Given the description of an element on the screen output the (x, y) to click on. 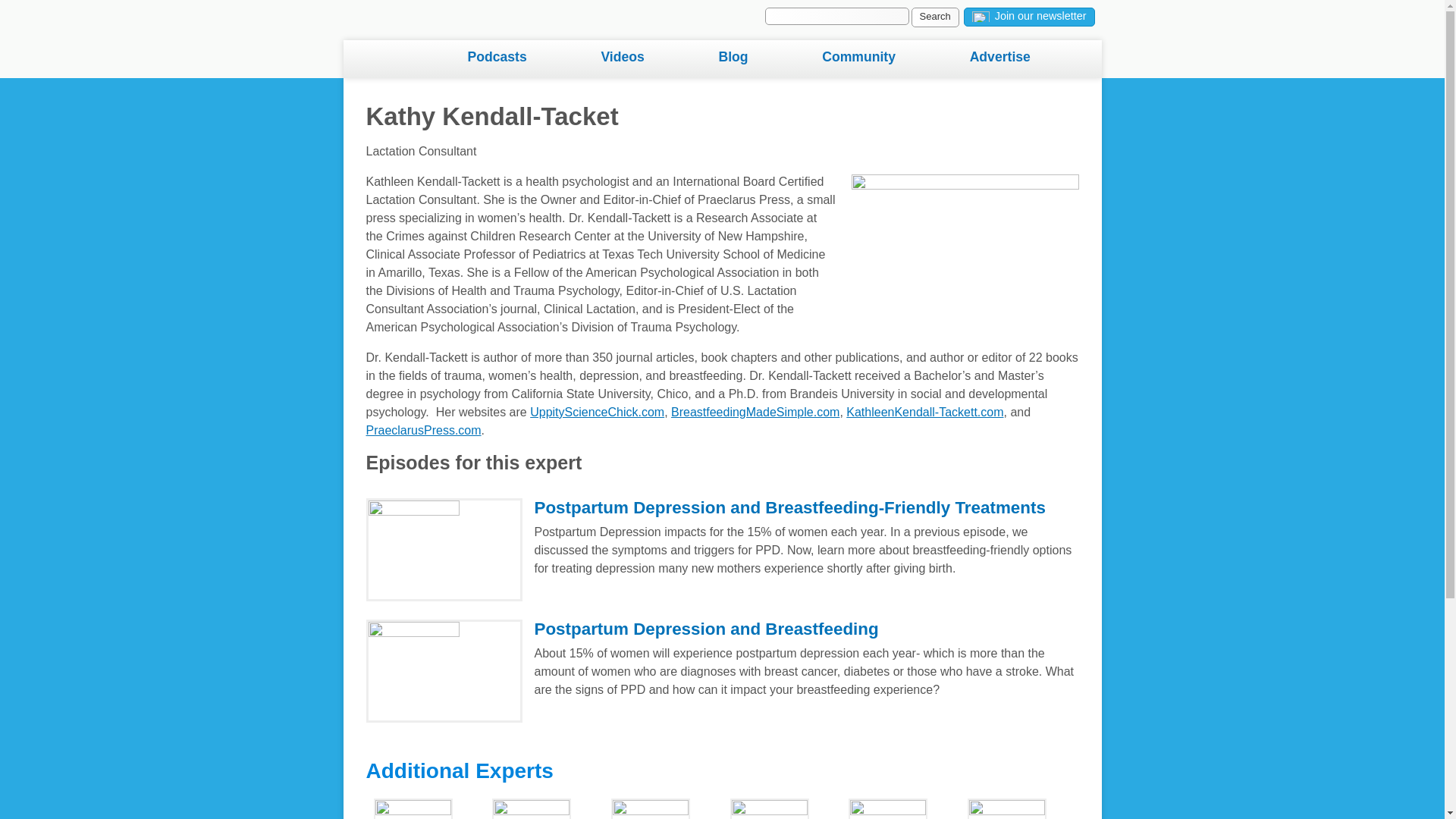
Community (892, 57)
Postpartum Depression and Breastfeeding (705, 628)
KathleenKendall-Tackett.com (924, 411)
UppityScienceChick.com (596, 411)
Blog (766, 57)
Advertise (1034, 57)
PraeclarusPress.com (422, 430)
Postpartum Depression and Breastfeeding-Friendly Treatments (789, 506)
Search (935, 17)
Videos (655, 57)
